Given the description of an element on the screen output the (x, y) to click on. 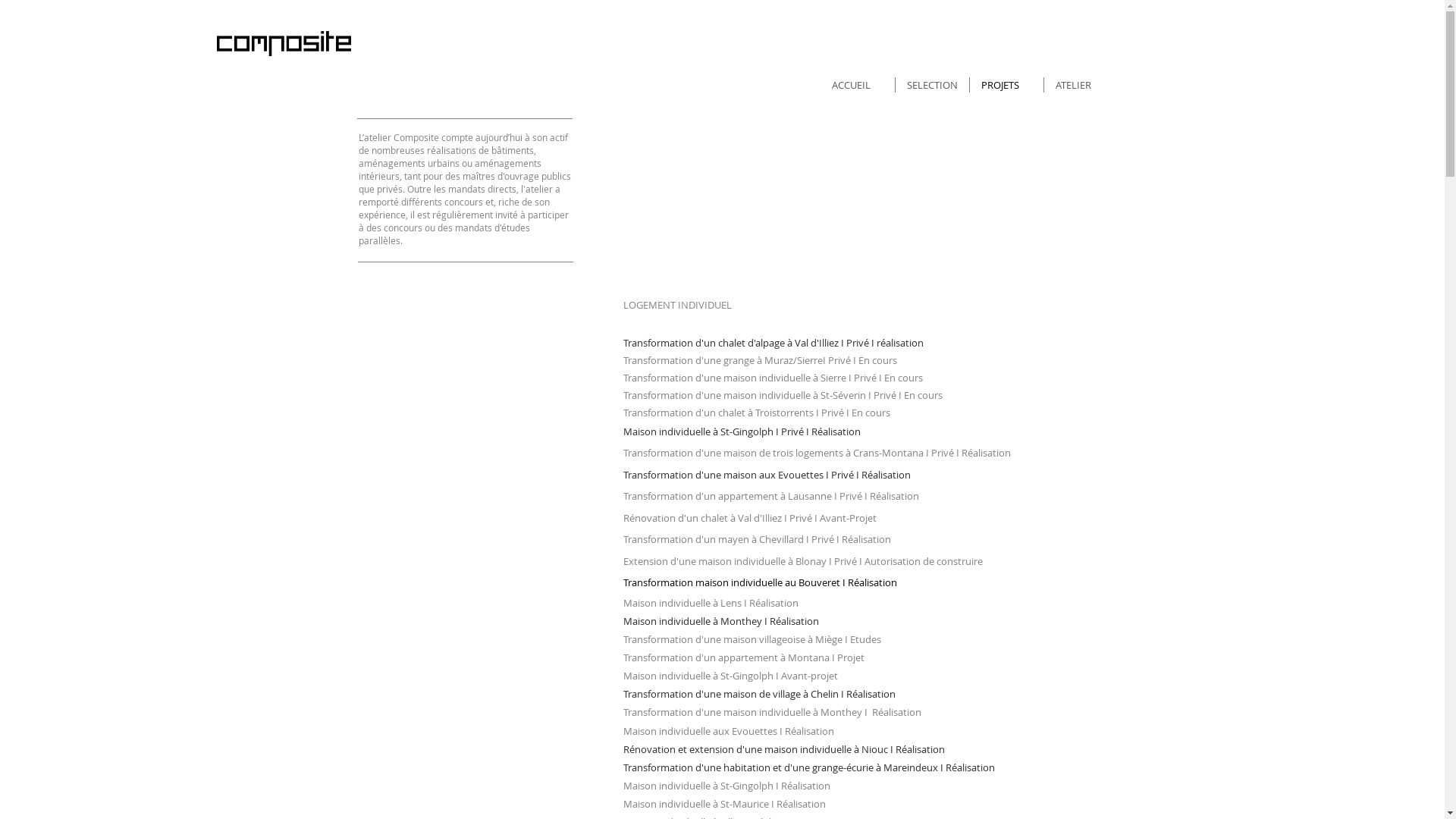
ACCUEIL Element type: text (857, 84)
ATELIER Element type: text (1080, 84)
SELECTION Element type: text (931, 84)
PROJETS Element type: text (1005, 84)
